Given the description of an element on the screen output the (x, y) to click on. 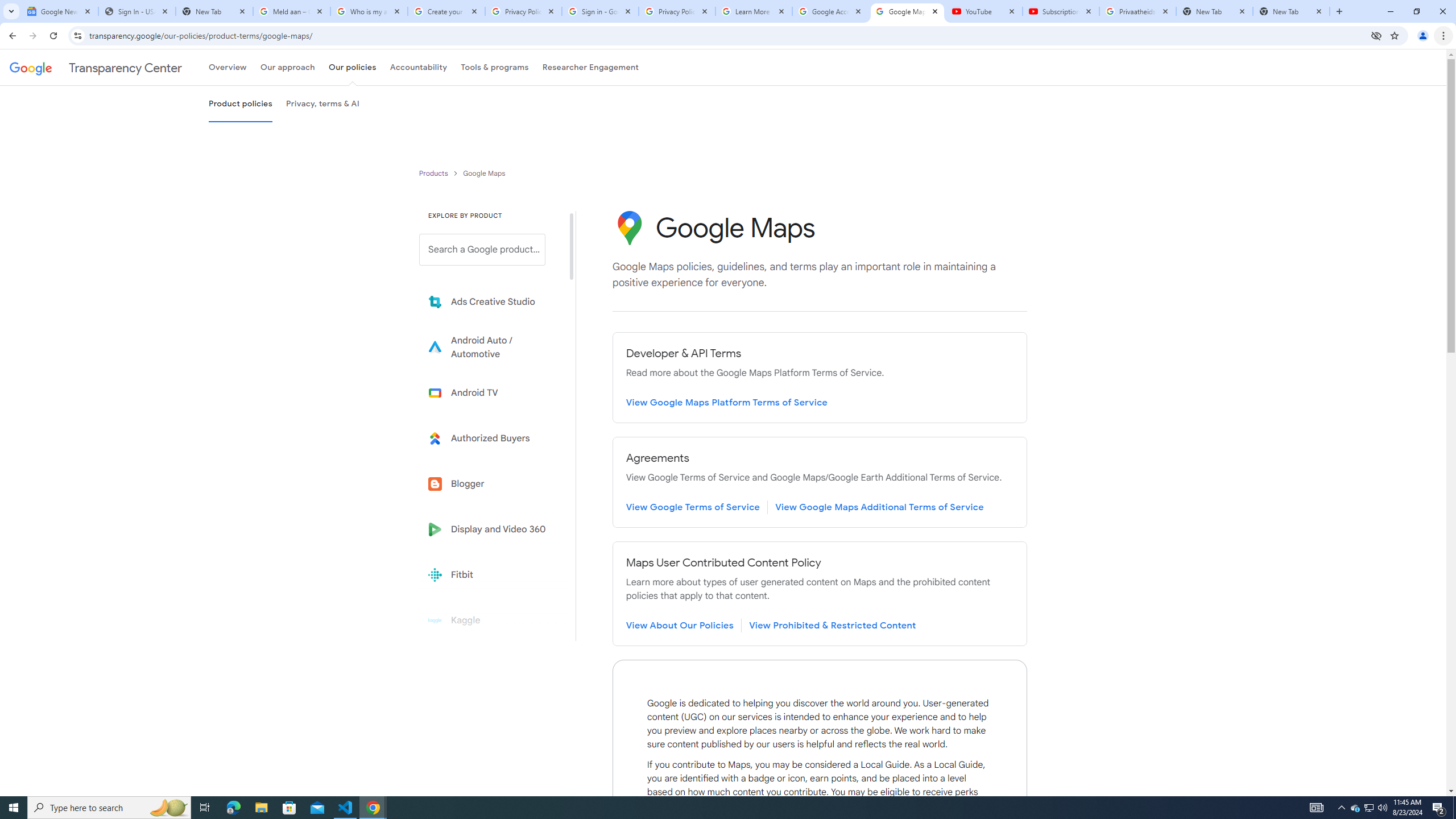
Display and Video 360 (490, 529)
Kaggle (490, 619)
Learn more about Authorized Buyers (490, 438)
Blogger (490, 483)
View About Our Policies (679, 625)
Google Maps Policies and Guidelines - Transparency Center (906, 11)
View Prohibited & Restricted Content (832, 625)
Search a Google product from below list. (481, 249)
Visit Google Maps Platform Terms of Service page (726, 402)
Learn more about Android TV (490, 393)
Learn more about Authorized Buyers (490, 438)
Learn more about Android TV (490, 393)
